Given the description of an element on the screen output the (x, y) to click on. 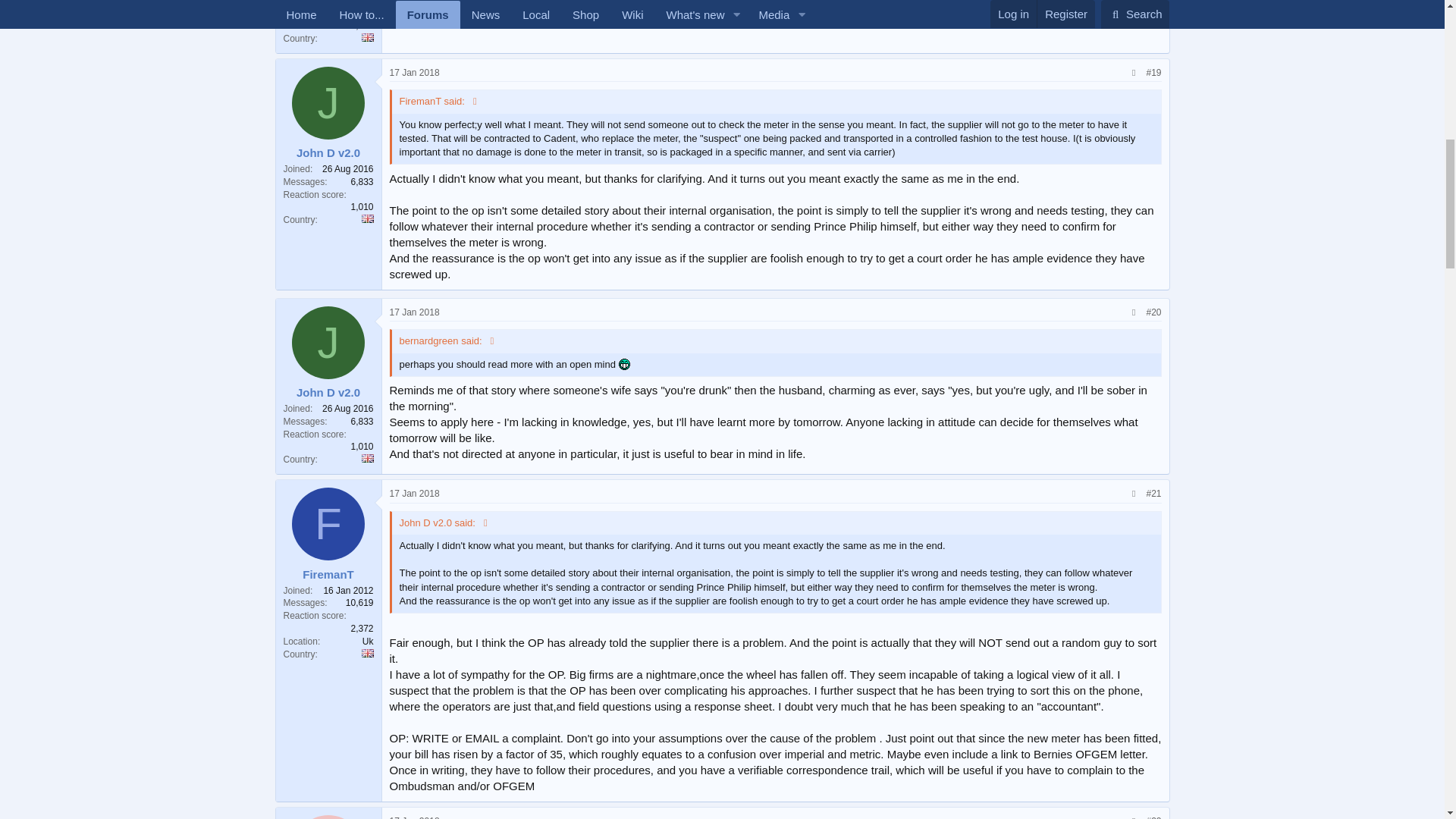
United Kingdom (366, 653)
United Kingdom (366, 218)
17 Jan 2018 at 9:56 PM (414, 312)
Mr Green    :mrgreen: (624, 364)
United Kingdom (366, 37)
17 Jan 2018 at 9:51 PM (414, 72)
United Kingdom (366, 458)
